Given the description of an element on the screen output the (x, y) to click on. 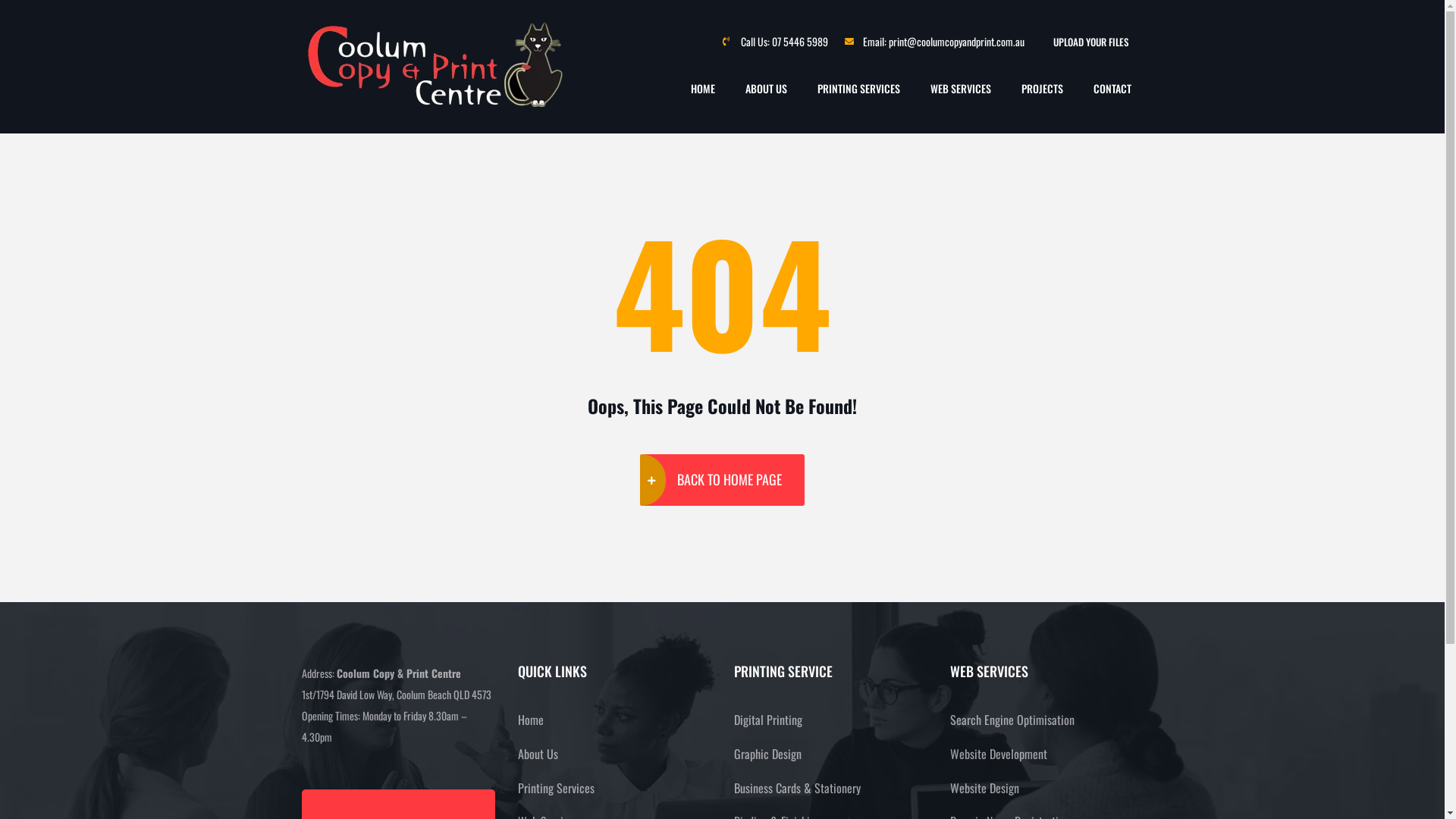
Email: print@coolumcopyandprint.com.au Element type: text (934, 41)
ABOUT US Element type: text (766, 88)
Website Development Element type: text (997, 754)
Search Engine Optimisation Element type: text (1011, 719)
Home Element type: text (529, 719)
HOME Element type: text (702, 88)
Graphic Design Element type: text (767, 754)
About Us Element type: text (537, 754)
PRINTING SERVICES Element type: text (858, 88)
Digital Printing Element type: text (768, 719)
Call Us: 07 5446 5989 Element type: text (775, 41)
CONTACT Element type: text (1112, 88)
Business Cards & Stationery Element type: text (797, 788)
WEB SERVICES Element type: text (960, 88)
UPLOAD YOUR FILES Element type: text (1090, 41)
Printing Services Element type: text (555, 788)
BACK TO HOME PAGE Element type: text (722, 479)
Website Design Element type: text (983, 788)
PROJECTS Element type: text (1042, 88)
